Given the description of an element on the screen output the (x, y) to click on. 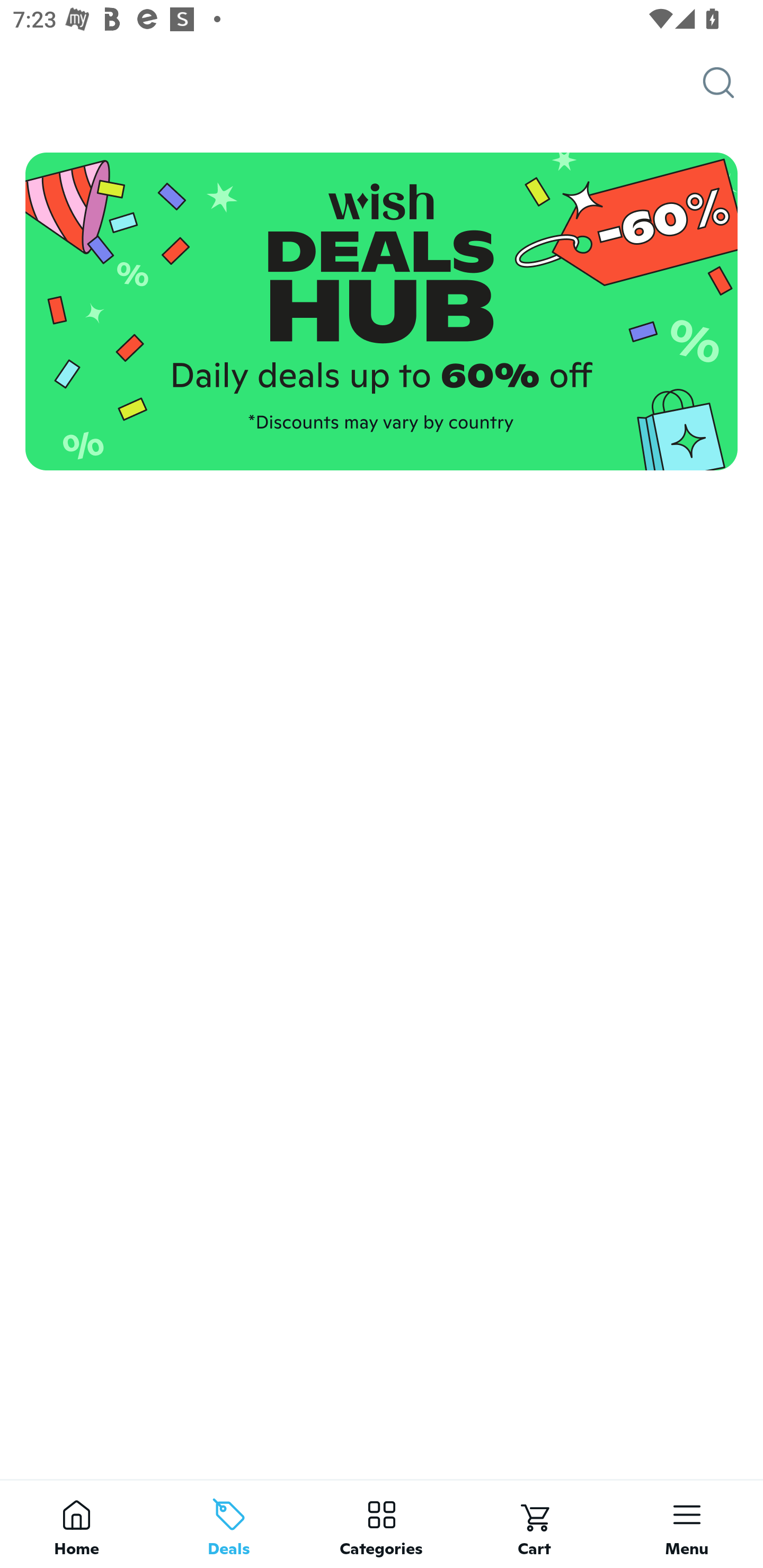
Search (732, 82)
Home (76, 1523)
Deals (228, 1523)
Categories (381, 1523)
Cart (533, 1523)
Menu (686, 1523)
